Given the description of an element on the screen output the (x, y) to click on. 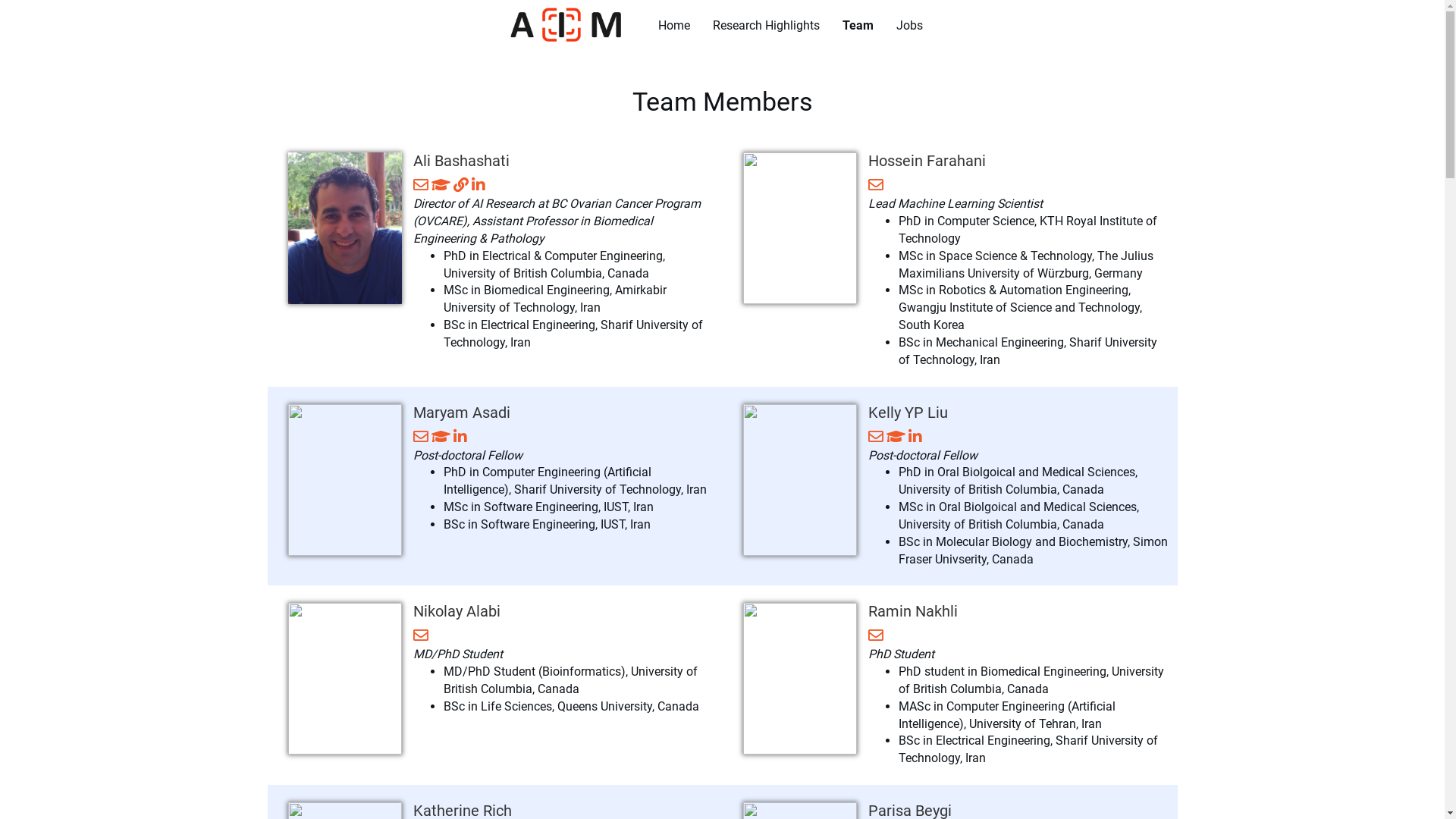
Team Element type: text (857, 25)
Home Element type: text (673, 25)
Research Highlights Element type: text (766, 25)
Jobs Element type: text (909, 25)
